Given the description of an element on the screen output the (x, y) to click on. 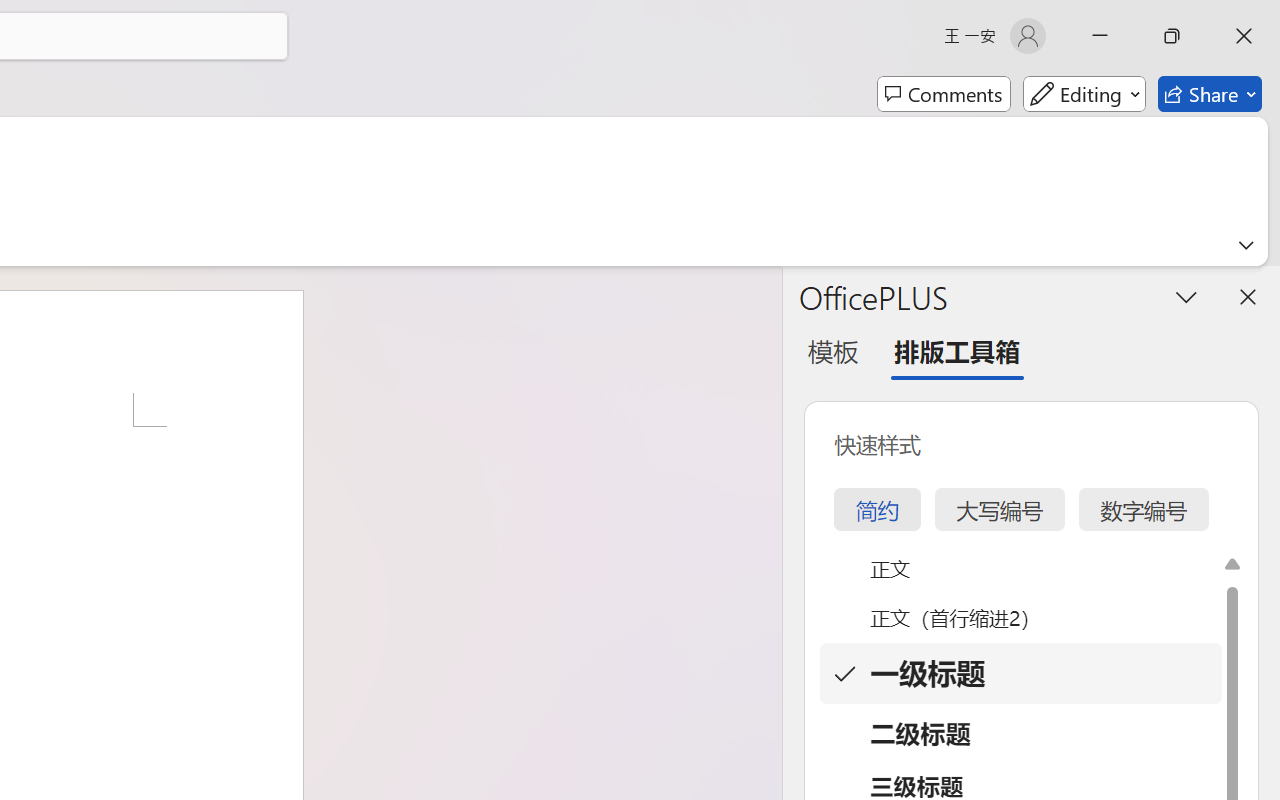
Previous page (841, 266)
play Record a Presentation (1038, 773)
Context help (23, 731)
